Given the description of an element on the screen output the (x, y) to click on. 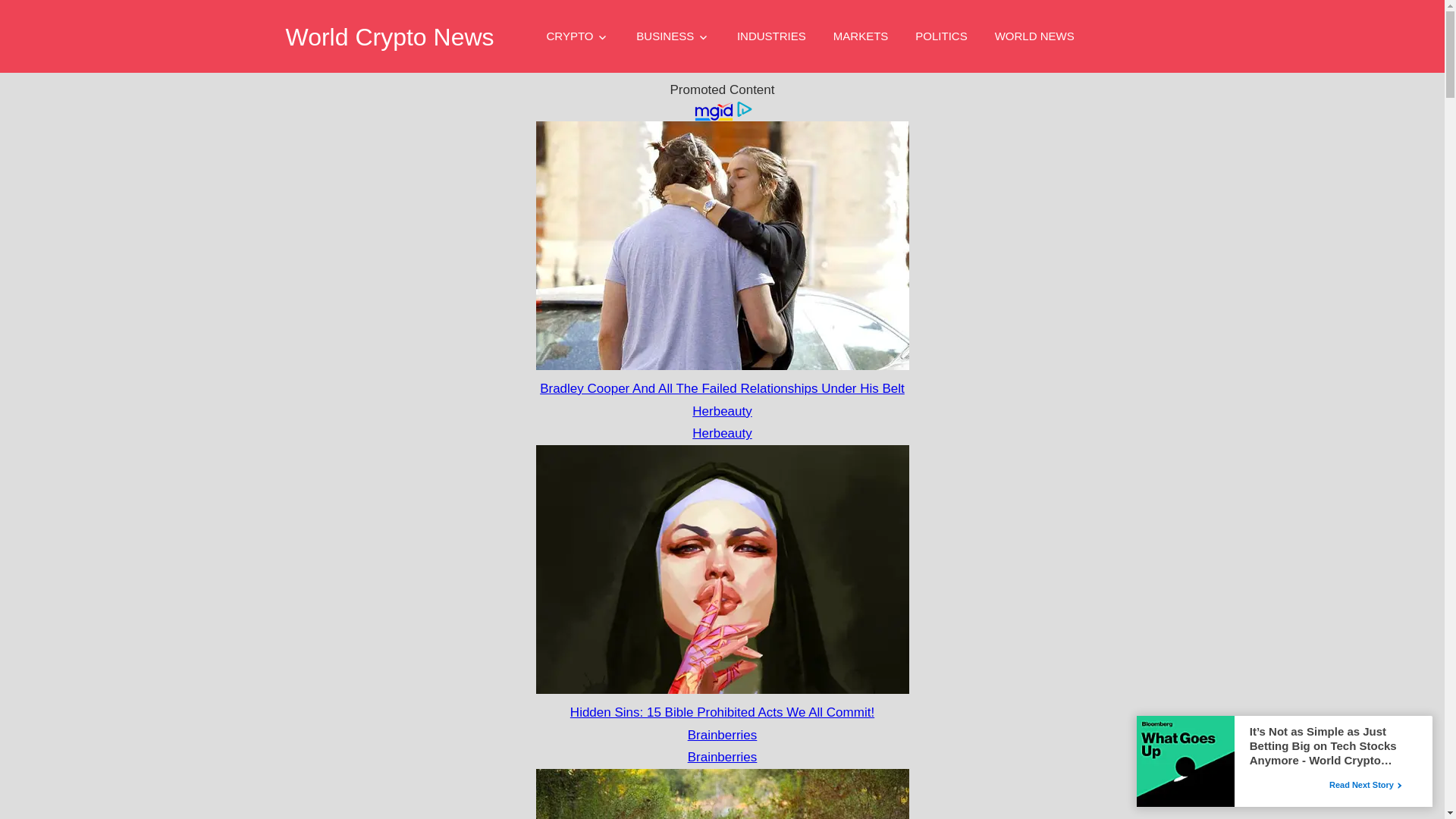
CRYPTO (577, 36)
WORLD NEWS (1034, 36)
BUSINESS (673, 36)
INDUSTRIES (771, 36)
POLITICS (940, 36)
MARKETS (860, 36)
World Crypto News (389, 36)
